Given the description of an element on the screen output the (x, y) to click on. 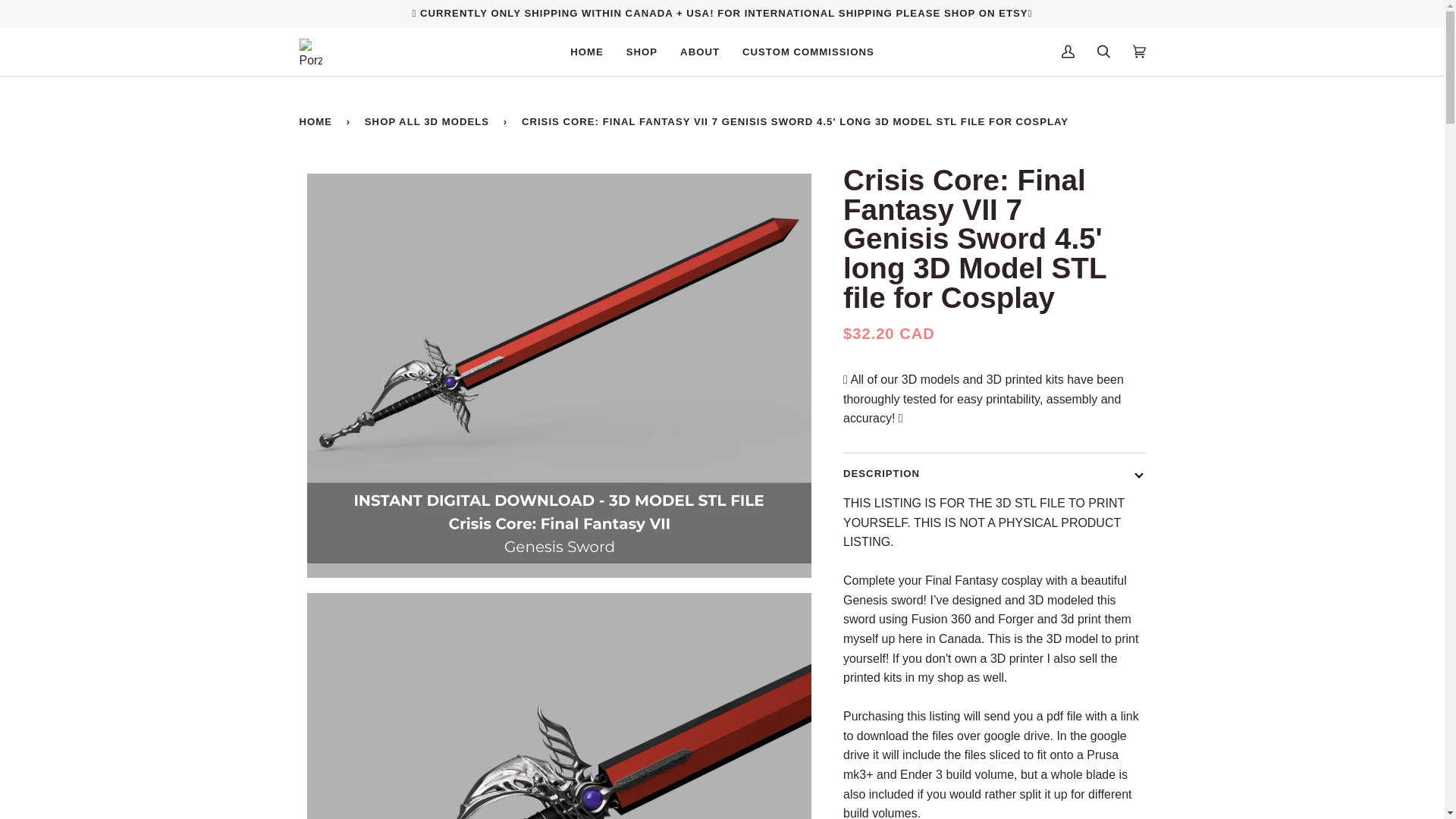
Back to the frontpage (317, 121)
HOME (586, 51)
ABOUT (699, 51)
SHOP (641, 51)
CUSTOM COMMISSIONS (807, 51)
